Given the description of an element on the screen output the (x, y) to click on. 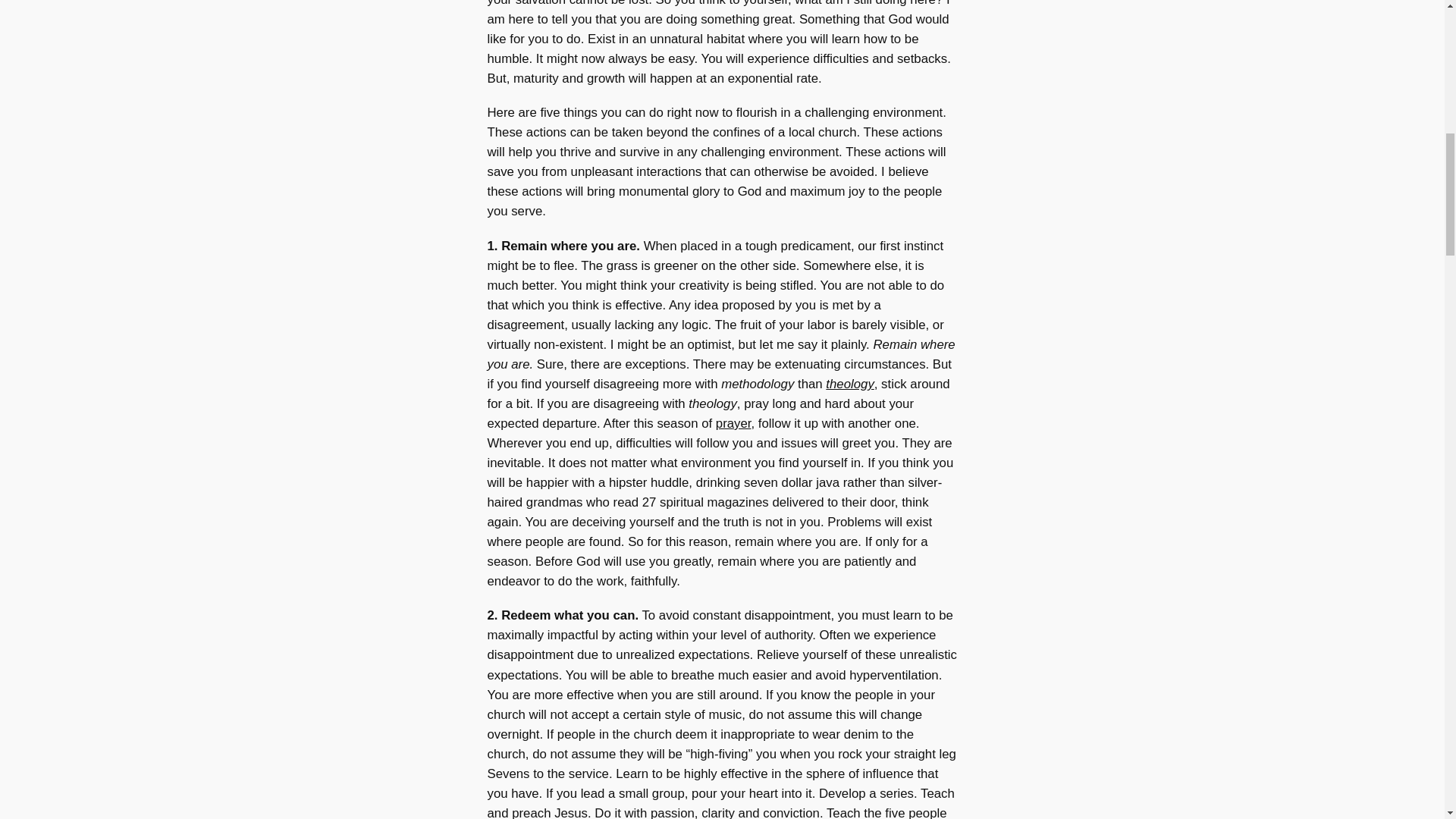
prayer (733, 423)
theology (849, 383)
